Given the description of an element on the screen output the (x, y) to click on. 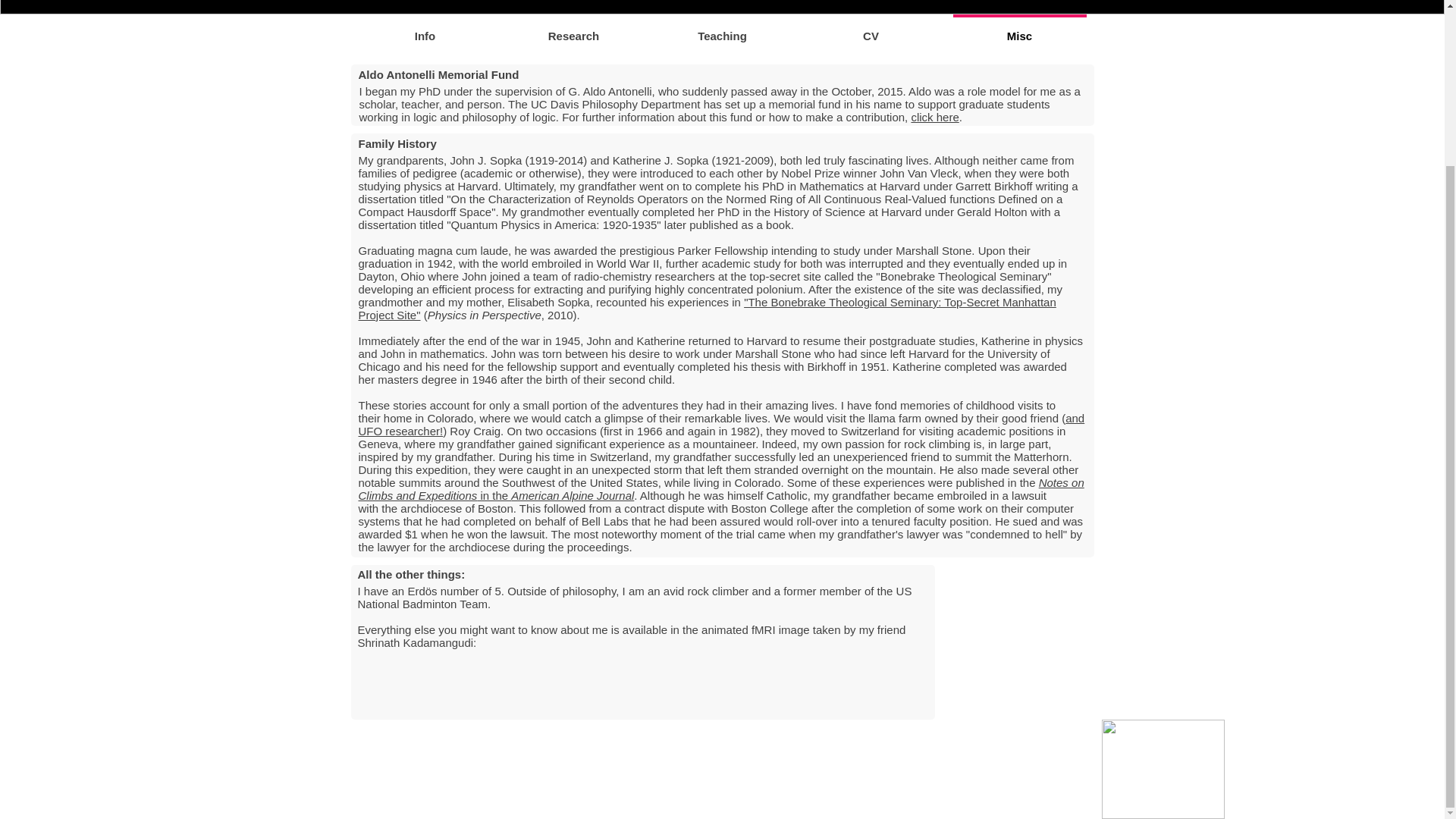
and UFO researcher! (721, 424)
click here (934, 116)
External YouTube (1017, 640)
Misc (1018, 29)
CV (870, 29)
Info (424, 29)
Research (573, 29)
Teaching (721, 29)
